Given the description of an element on the screen output the (x, y) to click on. 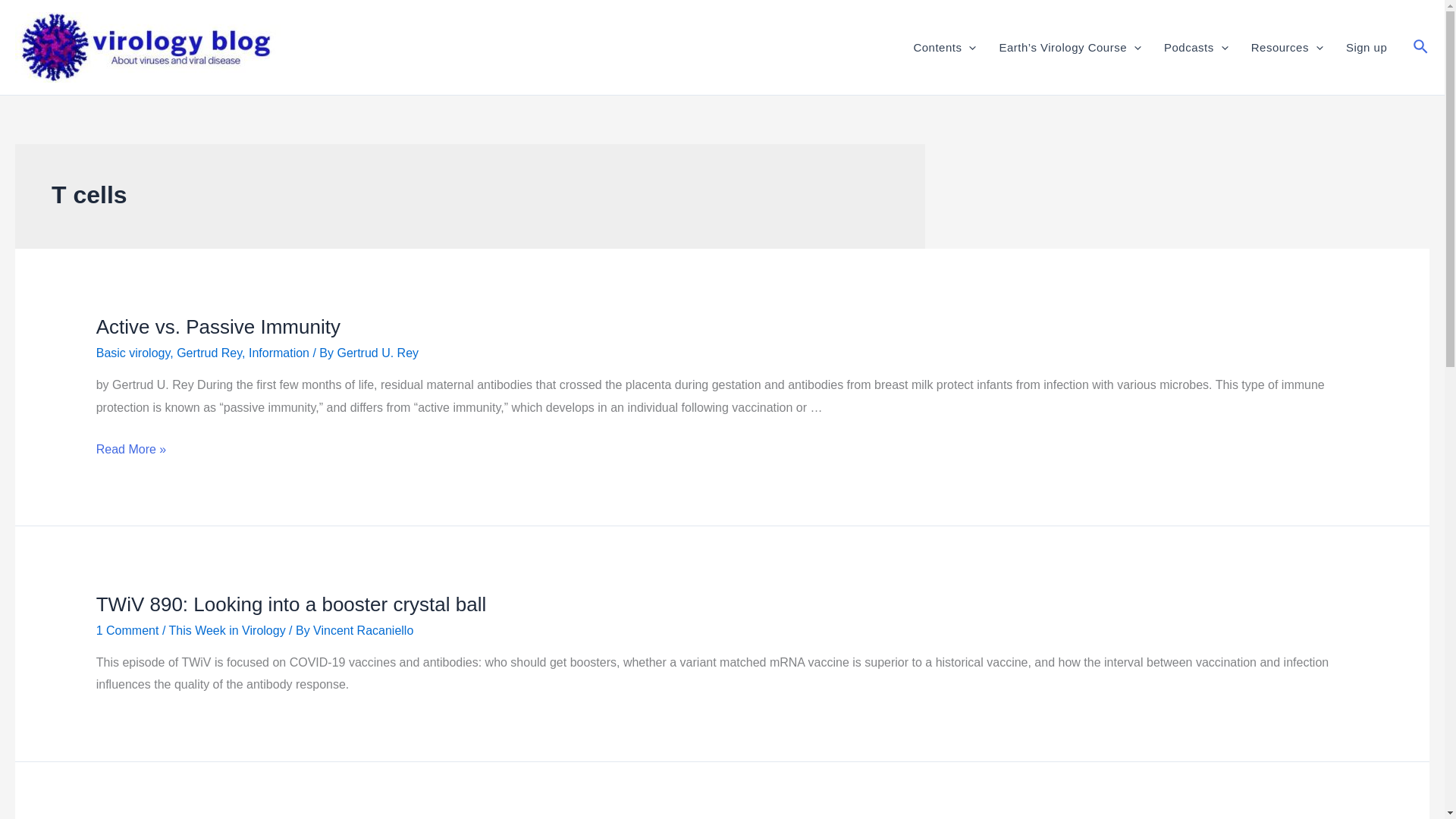
Podcasts (1196, 46)
Contents (944, 46)
Resources (1287, 46)
Sign up (1366, 46)
View all posts by Gertrud U. Rey (377, 352)
View all posts by Vincent Racaniello (363, 630)
